Given the description of an element on the screen output the (x, y) to click on. 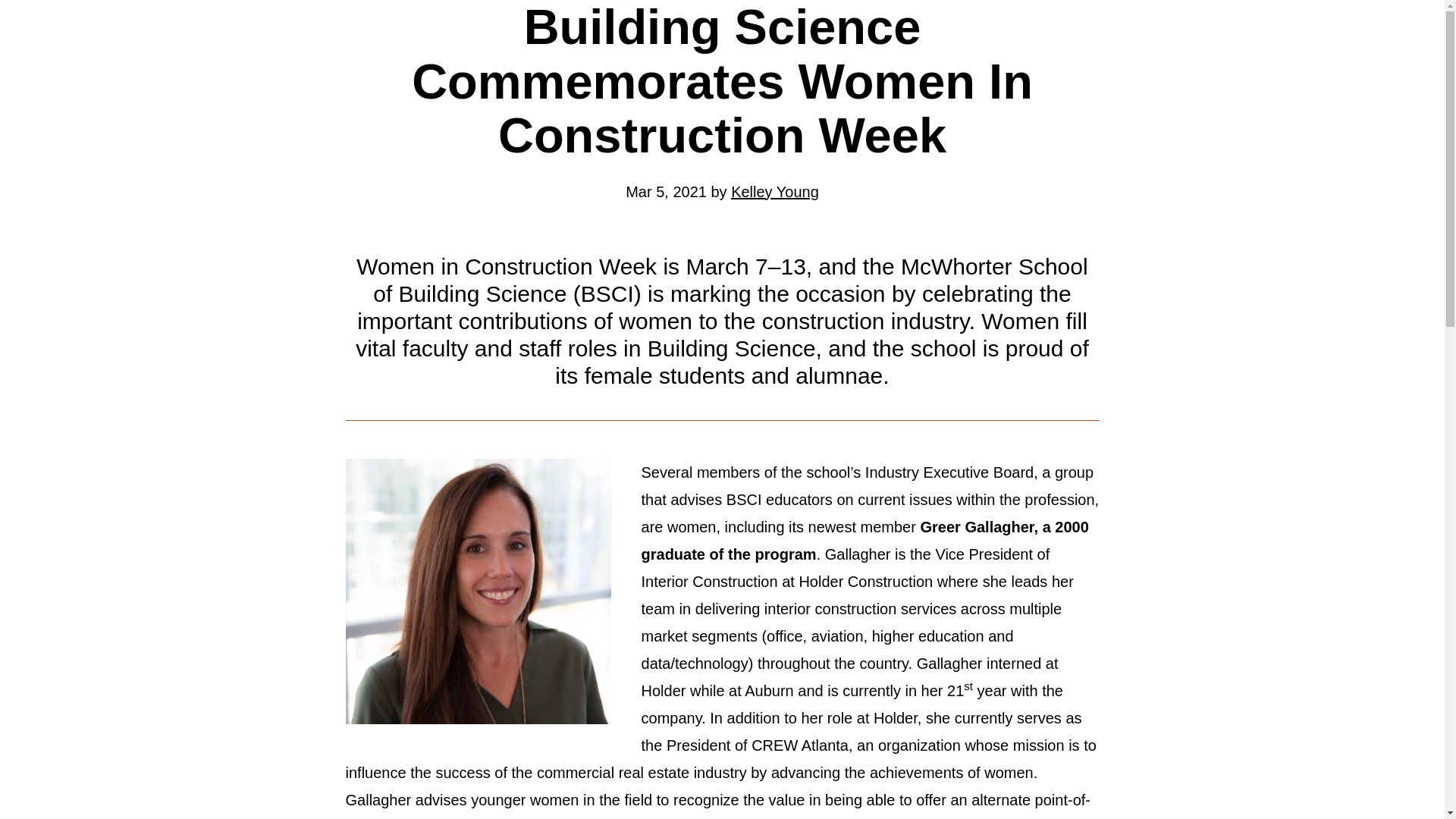
Kelley Young (774, 191)
